Given the description of an element on the screen output the (x, y) to click on. 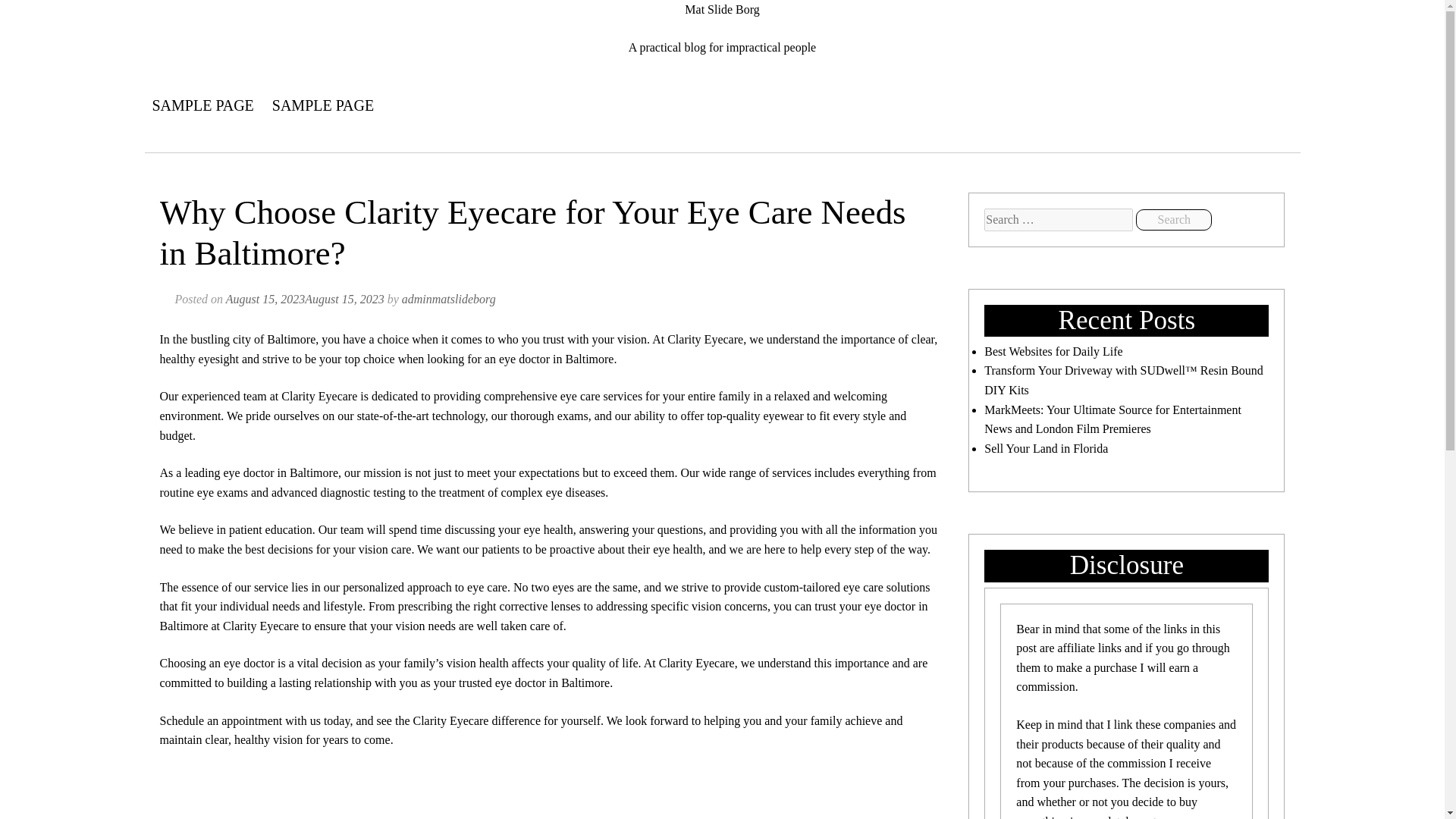
August 15, 2023August 15, 2023 (304, 298)
Clarity Eyecare (704, 338)
eye doctor in Baltimore (552, 682)
Clarity Eyecare (318, 395)
SAMPLE PAGE (322, 104)
SAMPLE PAGE (202, 104)
Clarity Eyecare (697, 662)
Sell Your Land in Florida (1046, 448)
adminmatslideborg (448, 298)
eye doctor in Baltimore (556, 358)
